Given the description of an element on the screen output the (x, y) to click on. 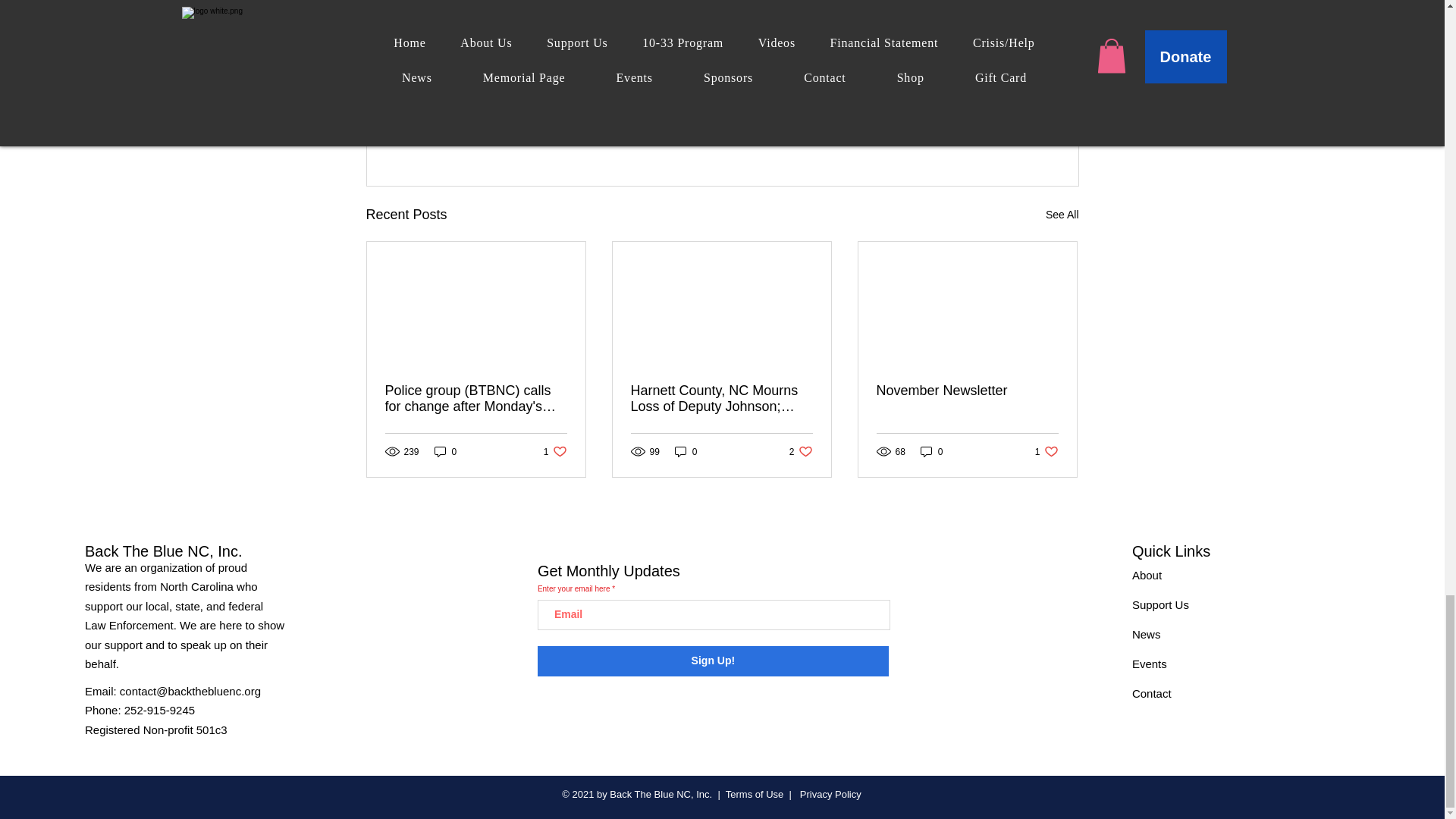
See All (1061, 214)
0 (800, 451)
0 (445, 451)
0 (685, 451)
Sign Up! (931, 451)
November Newsletter (1046, 451)
